Given the description of an element on the screen output the (x, y) to click on. 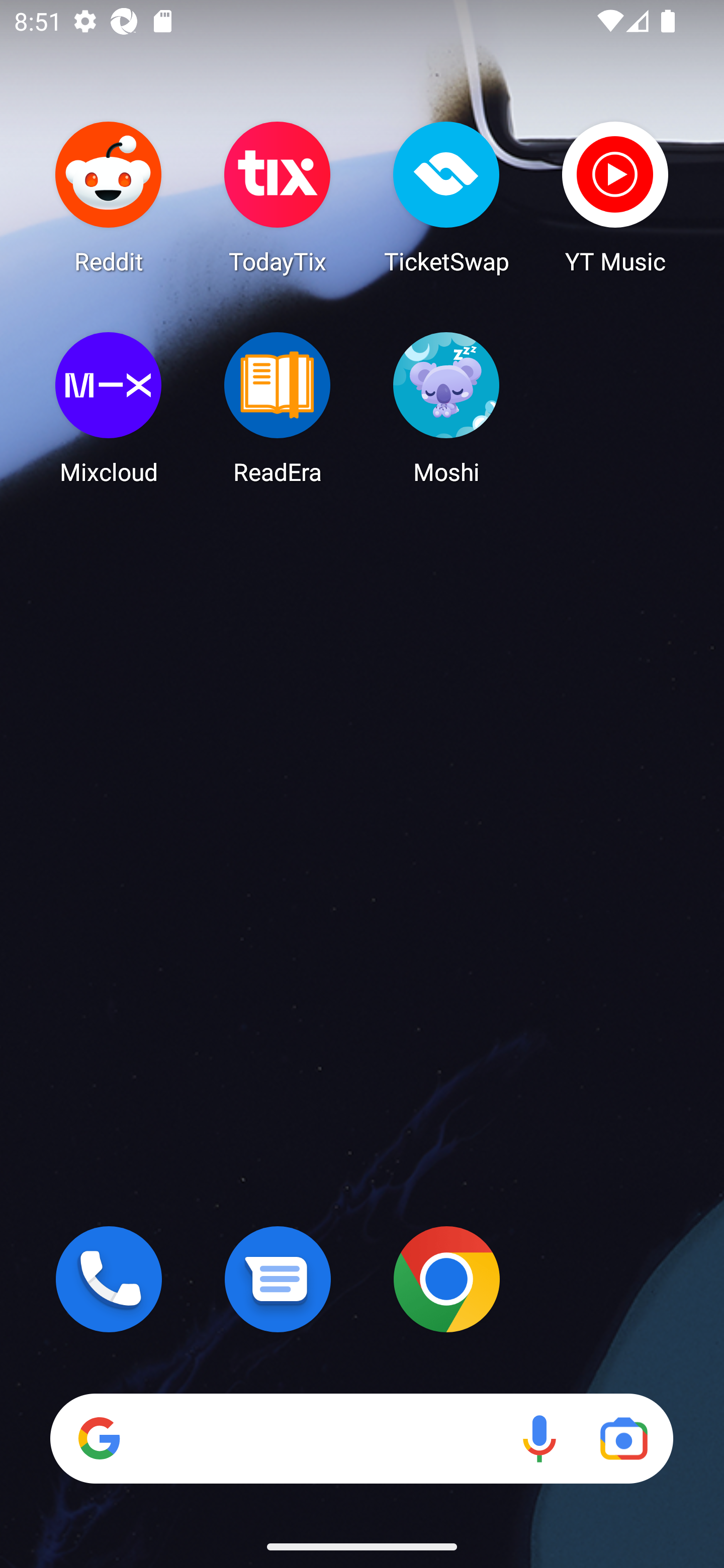
Reddit (108, 196)
TodayTix (277, 196)
TicketSwap (445, 196)
YT Music (615, 196)
Mixcloud (108, 407)
ReadEra (277, 407)
Moshi (445, 407)
Phone (108, 1279)
Messages (277, 1279)
Chrome (446, 1279)
Voice search (539, 1438)
Google Lens (623, 1438)
